Given the description of an element on the screen output the (x, y) to click on. 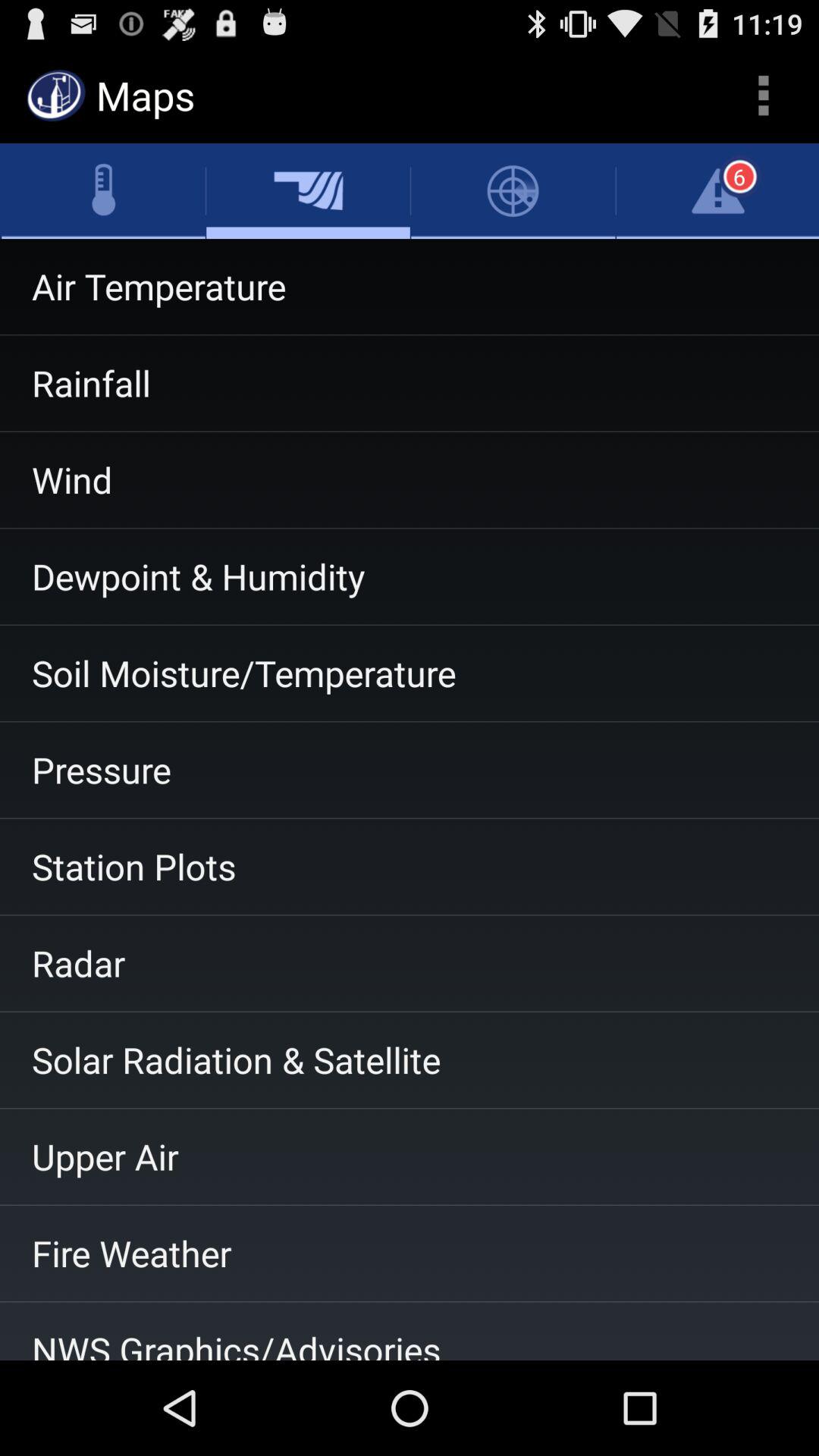
turn off app below the fire weather app (409, 1331)
